Given the description of an element on the screen output the (x, y) to click on. 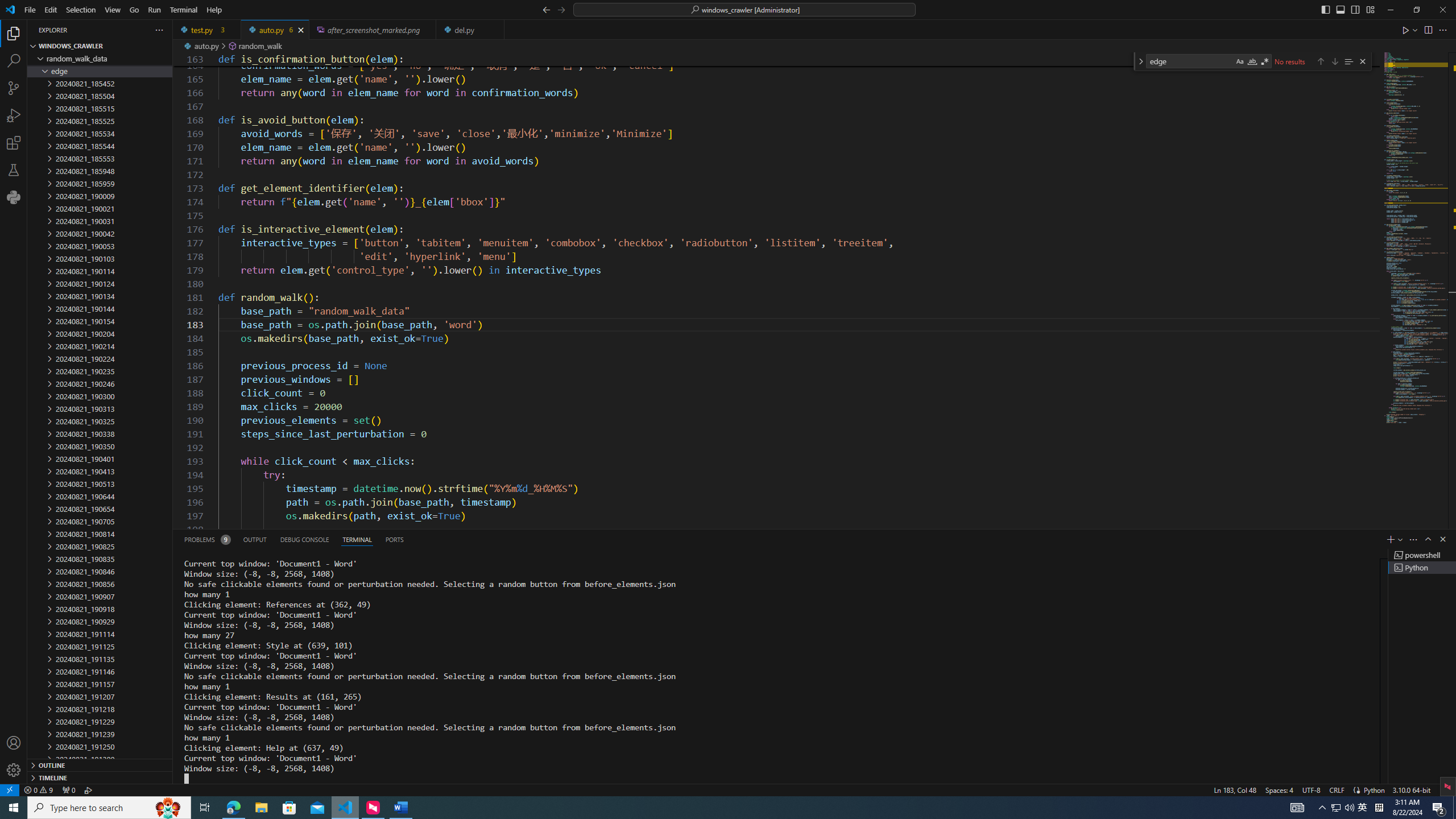
Go (134, 9)
Toggle Secondary Side Bar (Ctrl+Alt+B) (1355, 9)
Spaces: 4 (1278, 789)
Previous Match (Shift+Enter) (1320, 60)
Hide Panel (1442, 539)
Ports (394, 539)
Editor actions (1425, 29)
Warnings: 9 (37, 789)
No Ports Forwarded (68, 789)
auto.py (274, 29)
